Given the description of an element on the screen output the (x, y) to click on. 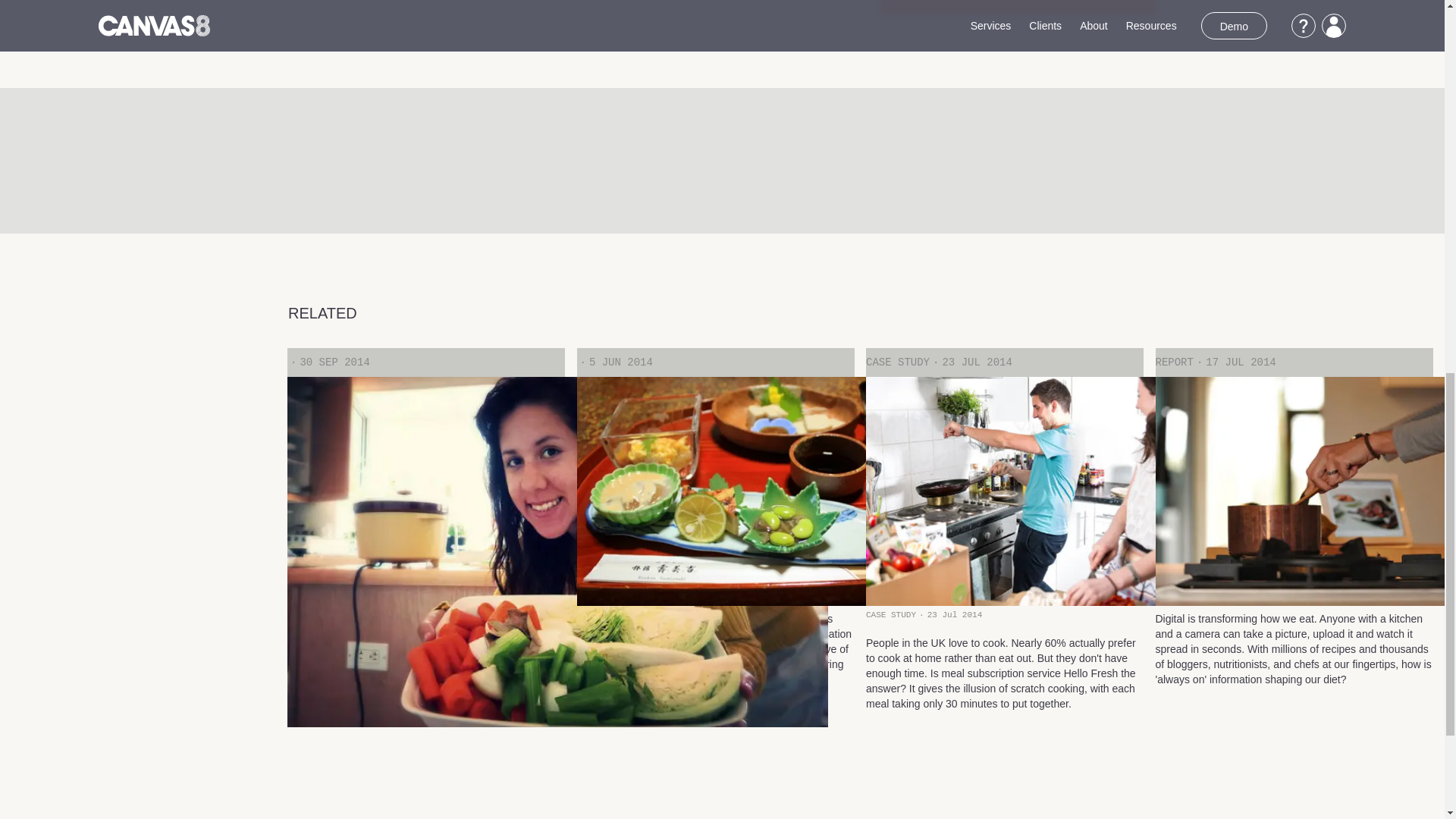
French foodies shun le boeuf (425, 560)
What does a digital foodie eat? (1294, 560)
Veggie eateries on the rise in Tokyo (714, 560)
